Given the description of an element on the screen output the (x, y) to click on. 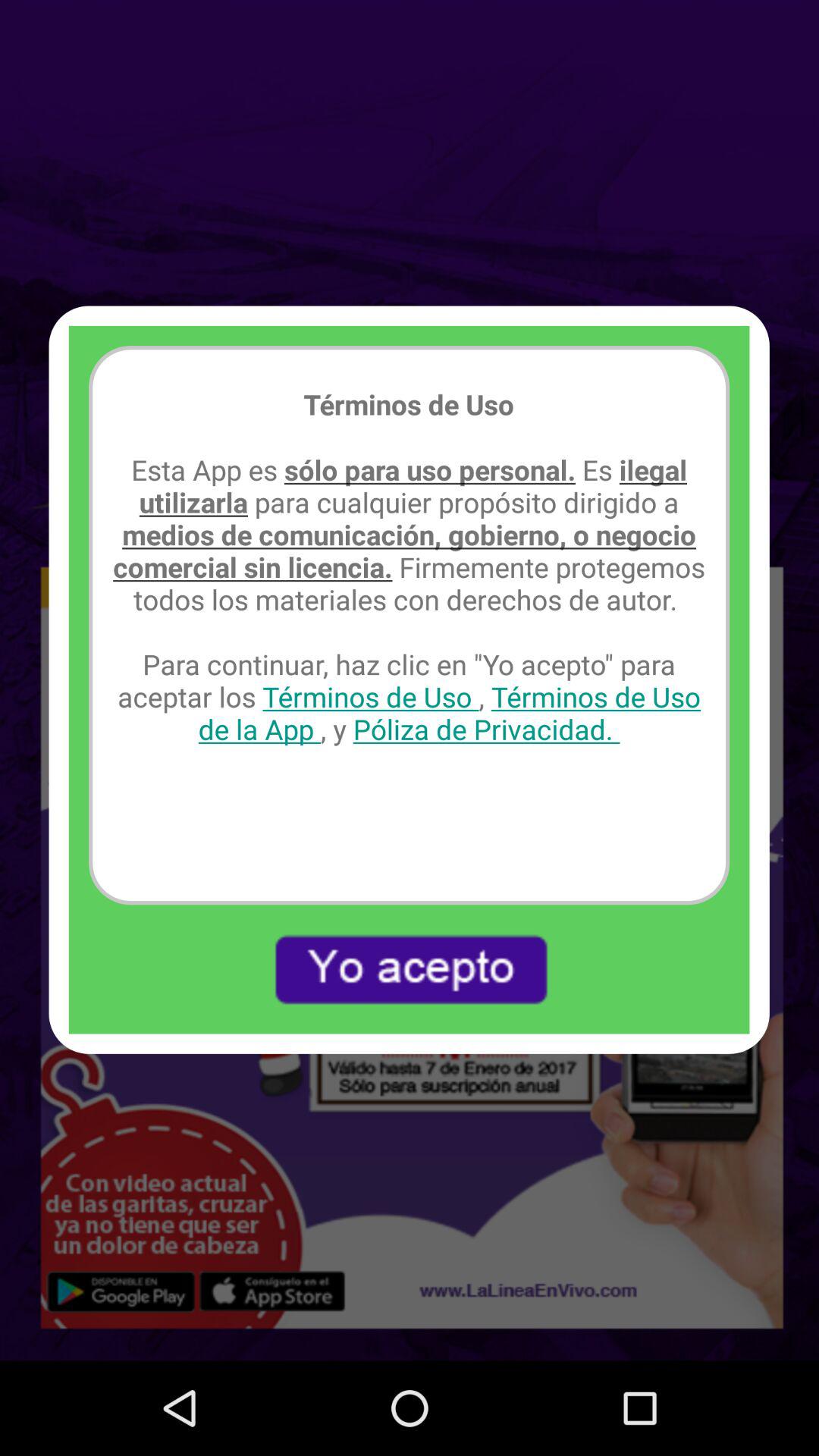
jump until the esta app es app (408, 599)
